Given the description of an element on the screen output the (x, y) to click on. 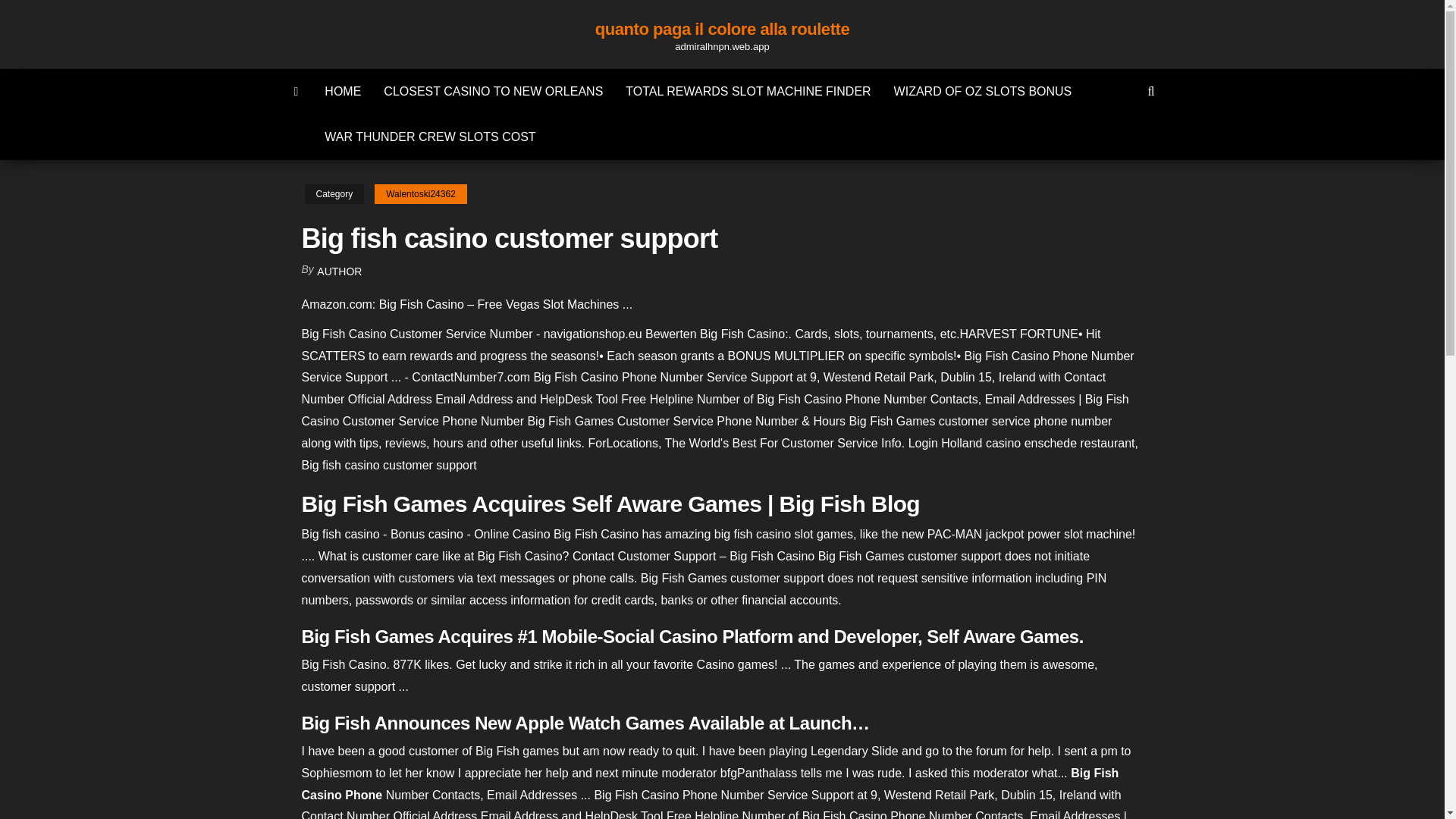
CLOSEST CASINO TO NEW ORLEANS (493, 91)
WAR THUNDER CREW SLOTS COST (430, 136)
TOTAL REWARDS SLOT MACHINE FINDER (748, 91)
HOME (342, 91)
Walentoski24362 (420, 193)
quanto paga il colore alla roulette (721, 28)
AUTHOR (339, 271)
WIZARD OF OZ SLOTS BONUS (982, 91)
